Given the description of an element on the screen output the (x, y) to click on. 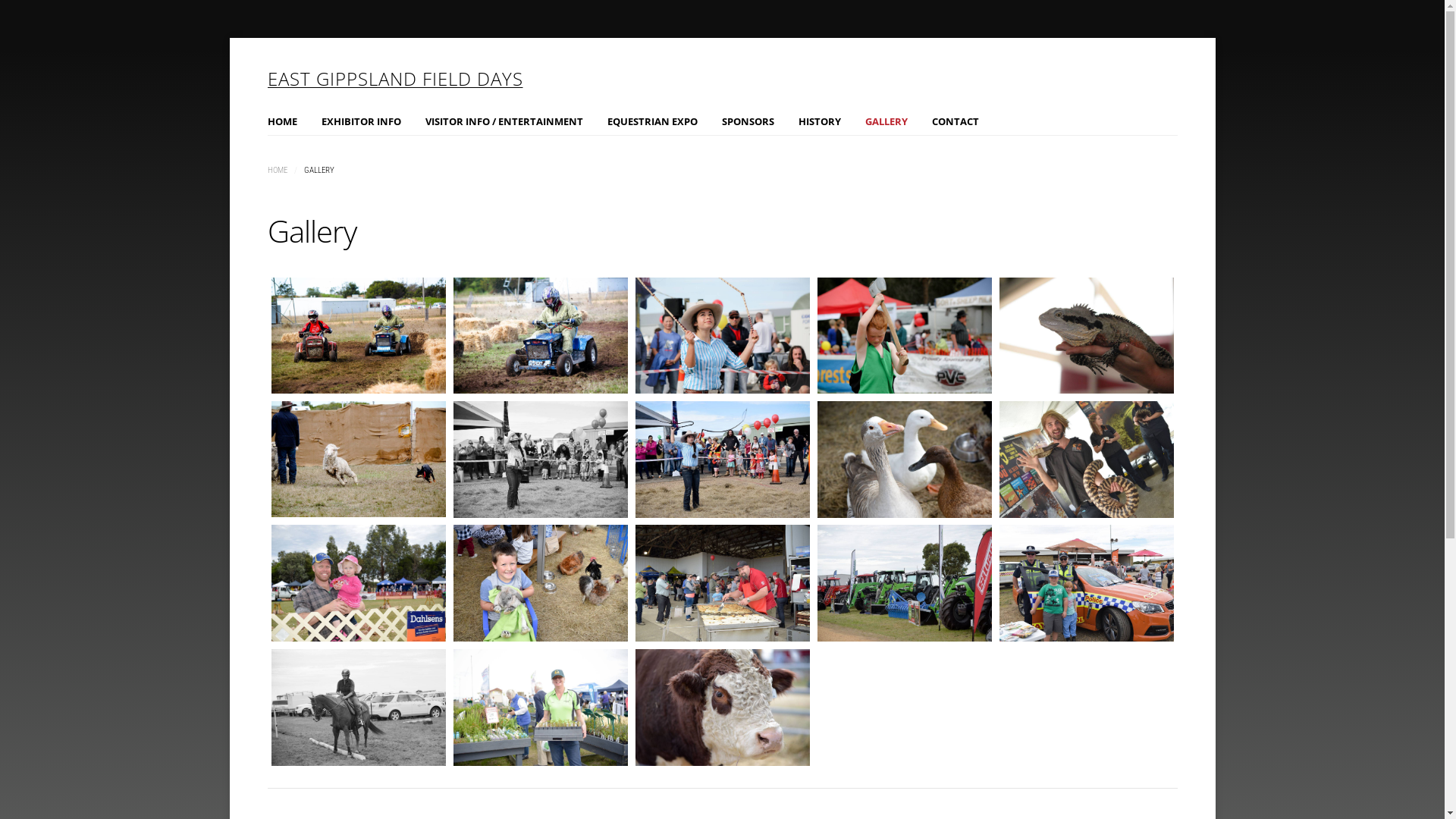
EQUESTRIAN EXPO Element type: text (651, 120)
GALLERY Element type: text (885, 120)
EAST GIPPSLAND FIELD DAYS Element type: text (402, 78)
SPONSORS Element type: text (747, 120)
EXHIBITOR INFO Element type: text (361, 120)
CONTACT Element type: text (954, 120)
HOME Element type: text (281, 120)
VISITOR INFO / ENTERTAINMENT Element type: text (503, 120)
HOME Element type: text (276, 170)
HISTORY Element type: text (818, 120)
